Given the description of an element on the screen output the (x, y) to click on. 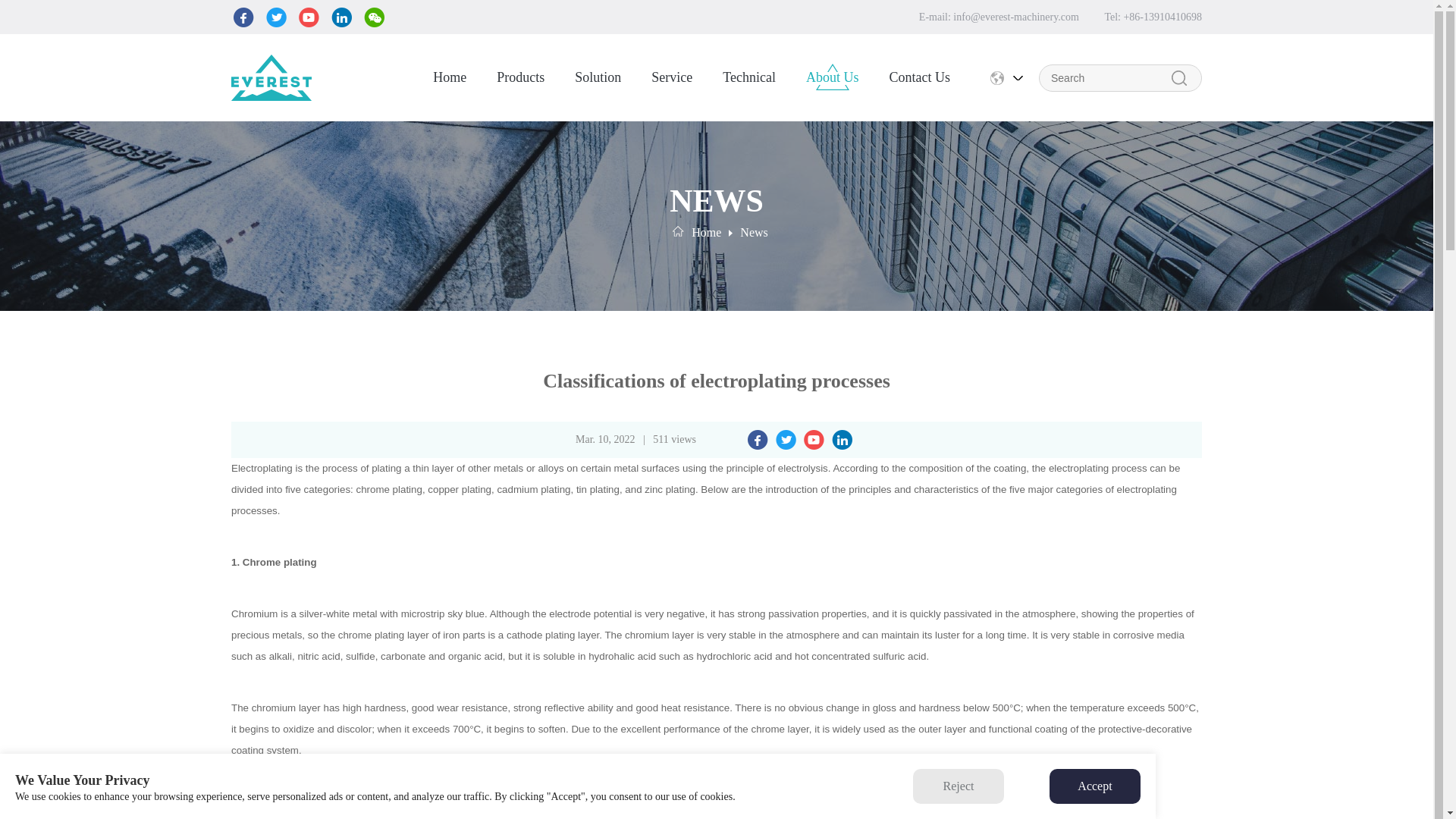
Home (449, 77)
Products (520, 77)
Technical (748, 77)
Contact Us (919, 77)
Home (705, 232)
Jinan Jiedi Motorcycle Technology Co., Ltd. (271, 77)
Solution (597, 77)
About Us (832, 77)
Service (671, 77)
